Given the description of an element on the screen output the (x, y) to click on. 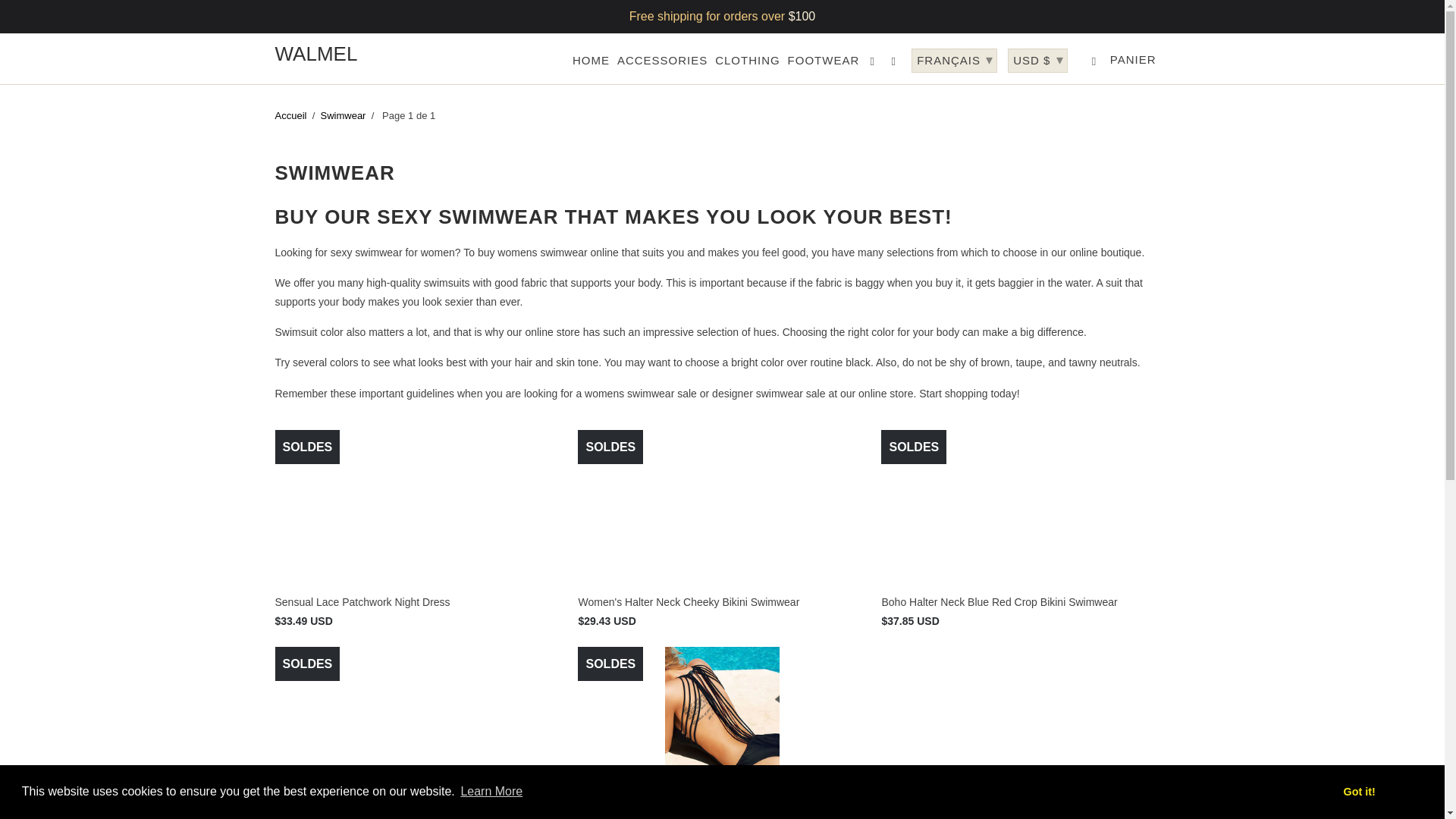
Recherche (894, 63)
Mon compte  (873, 63)
Walmel (380, 54)
Swimwear (342, 115)
Walmel (290, 115)
